Given the description of an element on the screen output the (x, y) to click on. 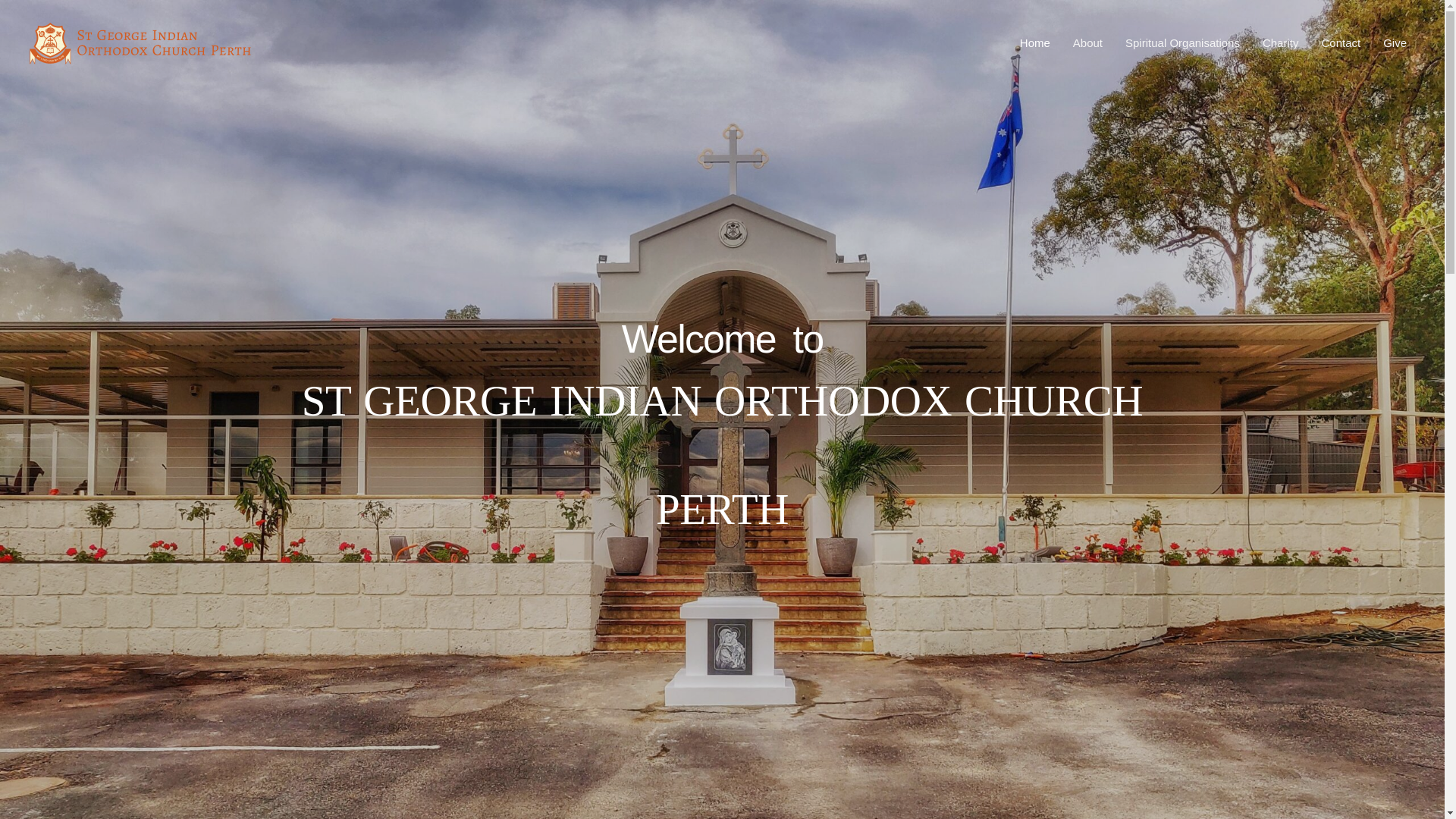
Give Element type: text (1394, 42)
About Element type: text (1087, 42)
Spiritual Organisations Element type: text (1182, 42)
Home Element type: text (1034, 42)
Charity Element type: text (1280, 42)
Contact Element type: text (1340, 42)
